Given the description of an element on the screen output the (x, y) to click on. 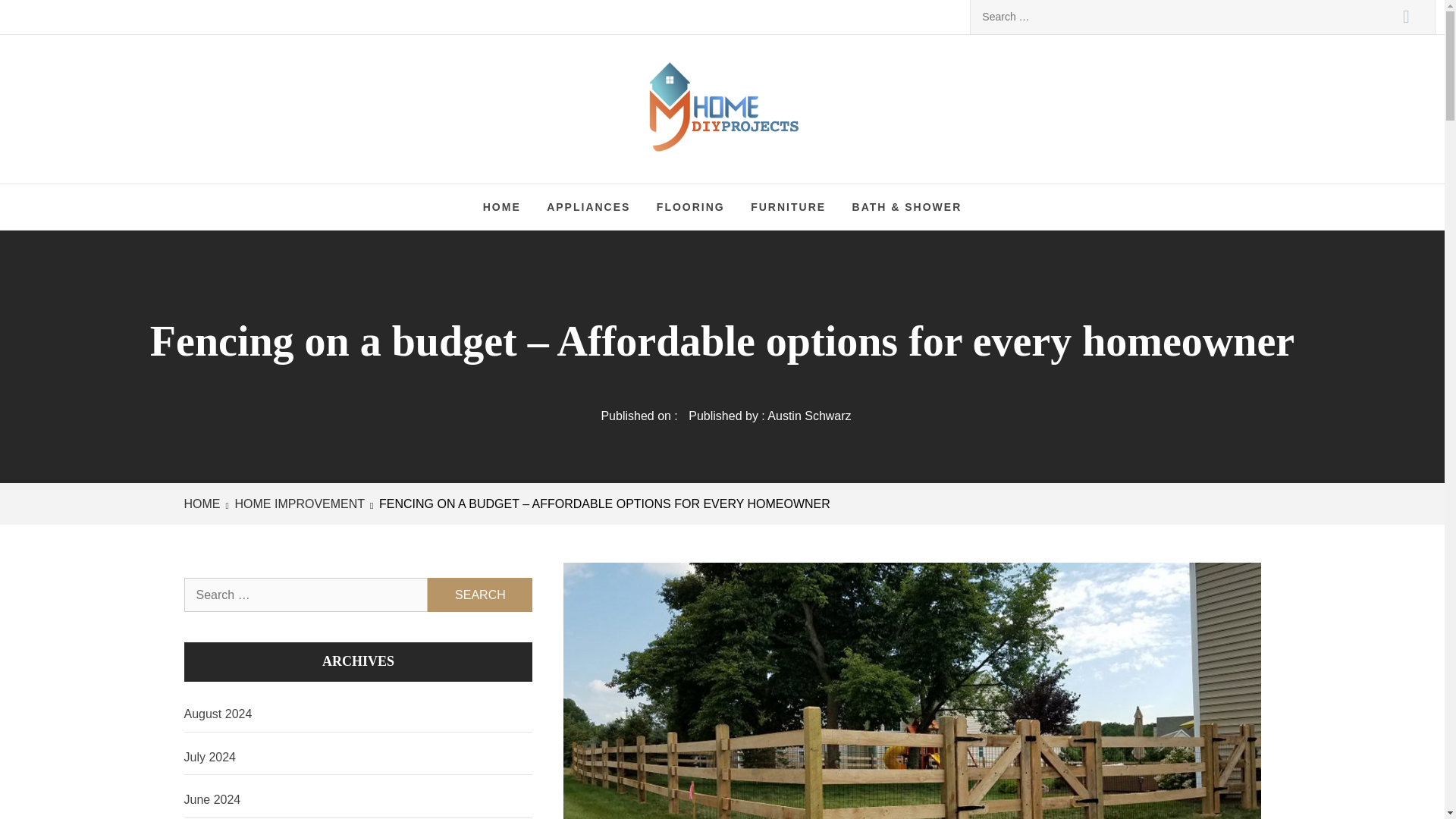
My Home DIY Projects (873, 90)
August 2024 (357, 714)
FURNITURE (788, 207)
Search (1405, 17)
Austin Schwarz (808, 415)
July 2024 (357, 757)
HOME IMPROVEMENT (298, 503)
Search (1405, 17)
APPLIANCES (588, 207)
HOME (204, 503)
